Given the description of an element on the screen output the (x, y) to click on. 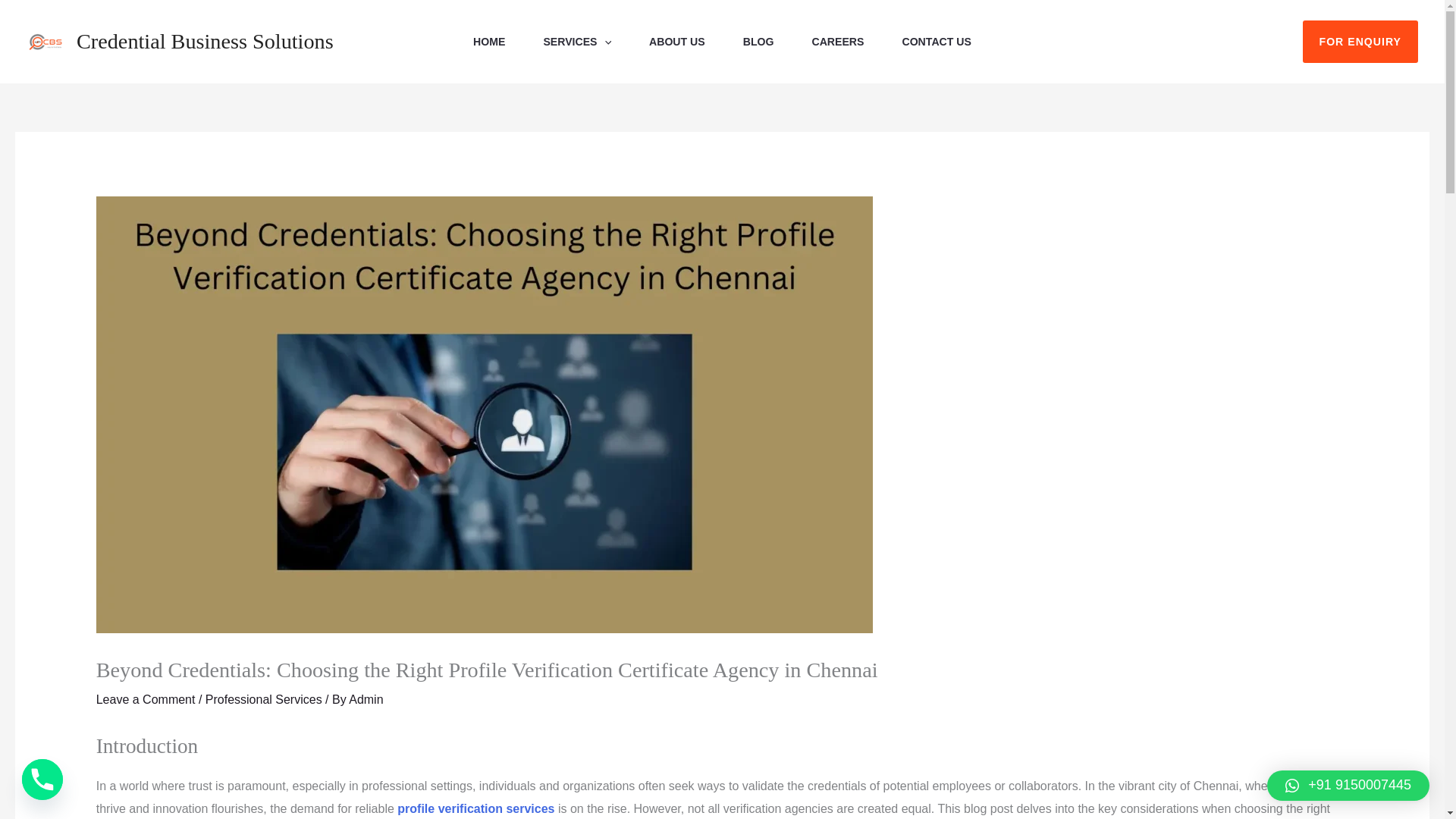
Professional Services (263, 698)
profile verification services (475, 808)
Admin (365, 698)
CAREERS (837, 41)
FOR ENQUIRY (1360, 41)
View all posts by Admin (365, 698)
Leave a Comment (145, 698)
SERVICES (577, 41)
CONTACT US (936, 41)
Credential Business Solutions (205, 41)
ABOUT US (676, 41)
